Given the description of an element on the screen output the (x, y) to click on. 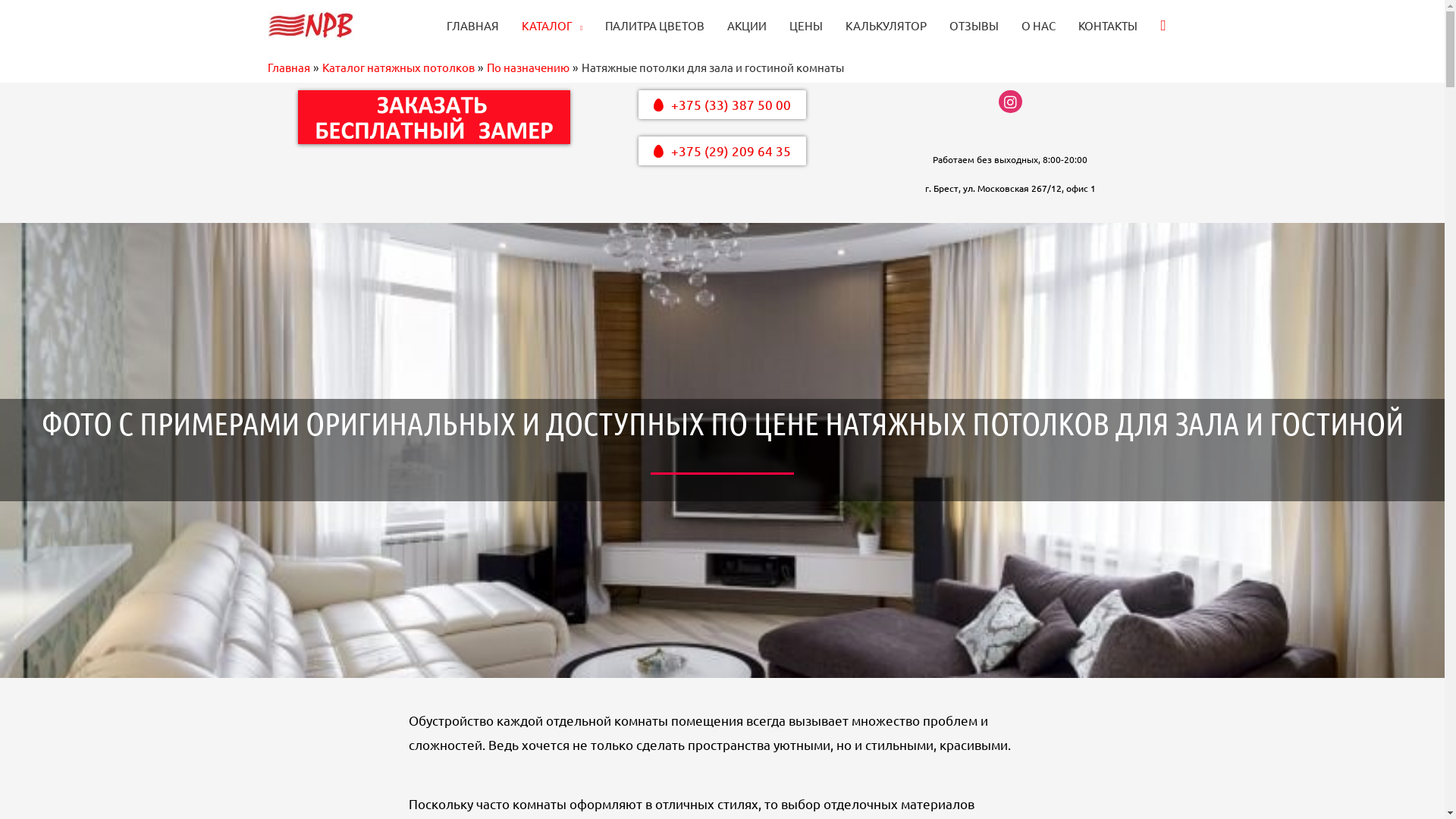
+375 (29) 209 64 35 Element type: text (722, 150)
+375 (33) 387 50 00 Element type: text (722, 104)
